Given the description of an element on the screen output the (x, y) to click on. 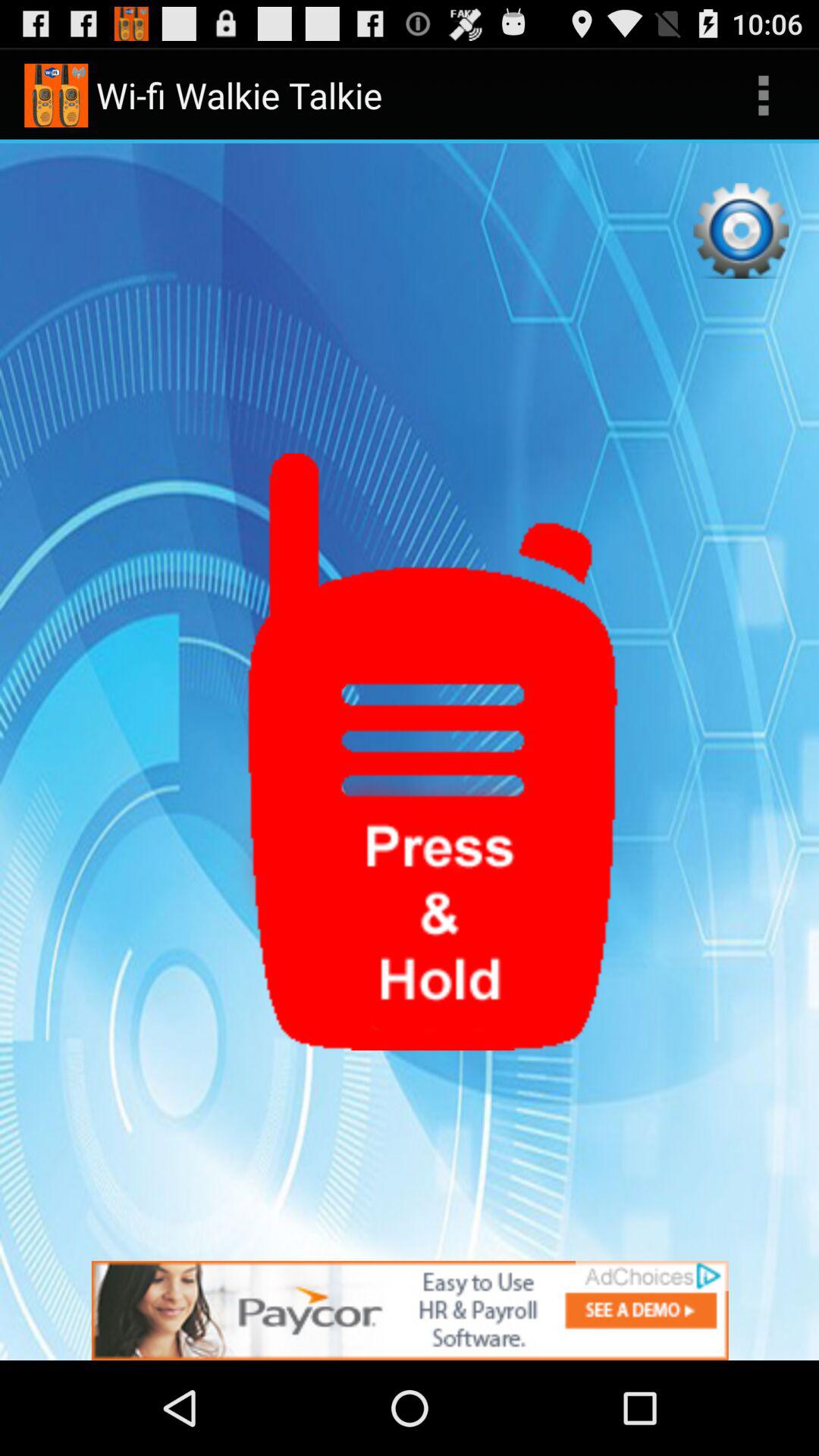
open advertisement (409, 1310)
